Given the description of an element on the screen output the (x, y) to click on. 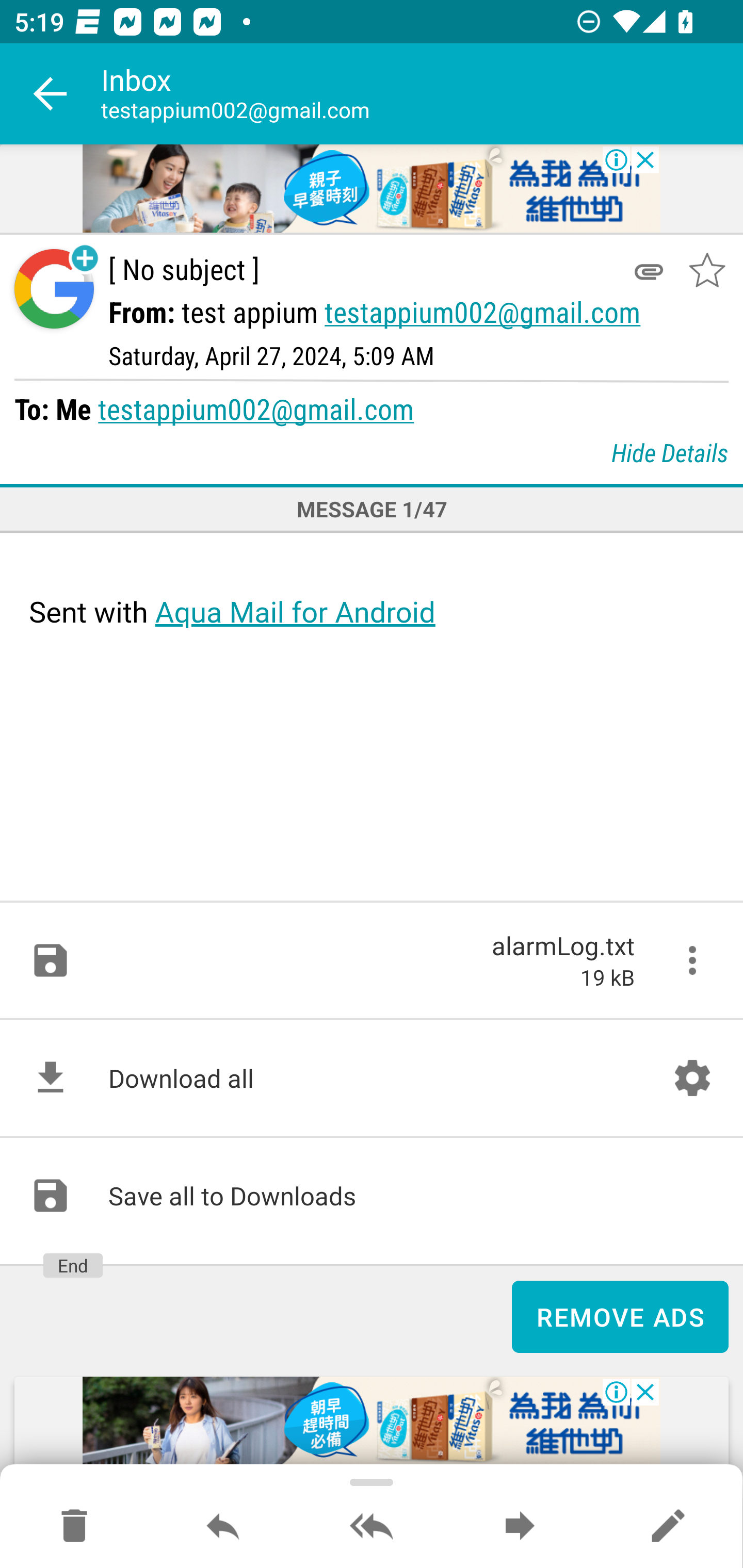
Navigate up (50, 93)
Inbox testappium002@gmail.com (422, 93)
Sender contact button (53, 289)
Aqua Mail for Android (294, 612)
alarmLog.txt 19 kB More options (371, 960)
More options (692, 960)
Download all Account setup (371, 1077)
Account setup (692, 1077)
Save all to Downloads (371, 1195)
REMOVE ADS (619, 1317)
Move to Deleted (74, 1527)
Reply (222, 1527)
Reply all (371, 1527)
Forward (519, 1527)
Reply as new (667, 1527)
